Given the description of an element on the screen output the (x, y) to click on. 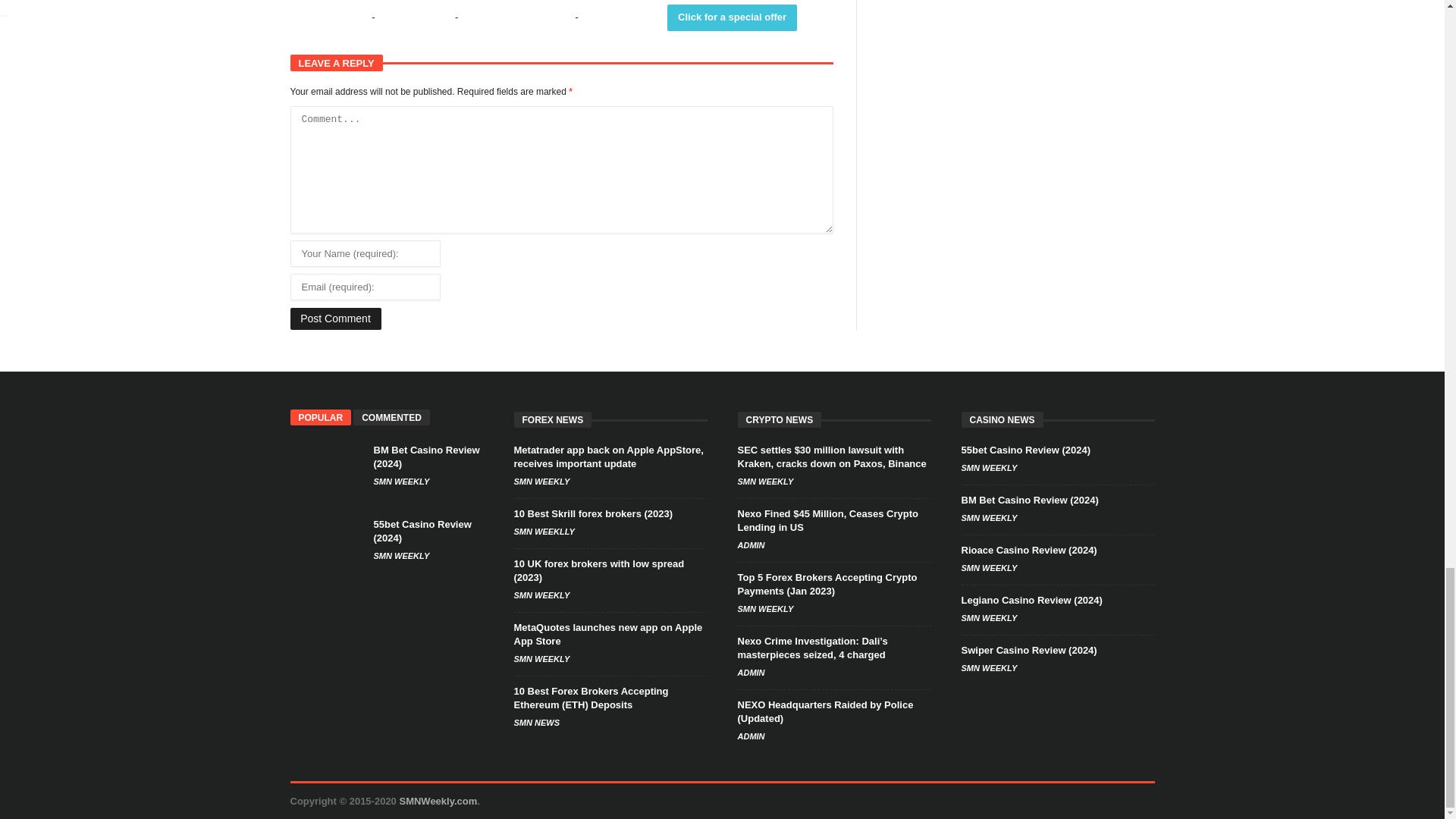
Post Comment (334, 318)
